Given the description of an element on the screen output the (x, y) to click on. 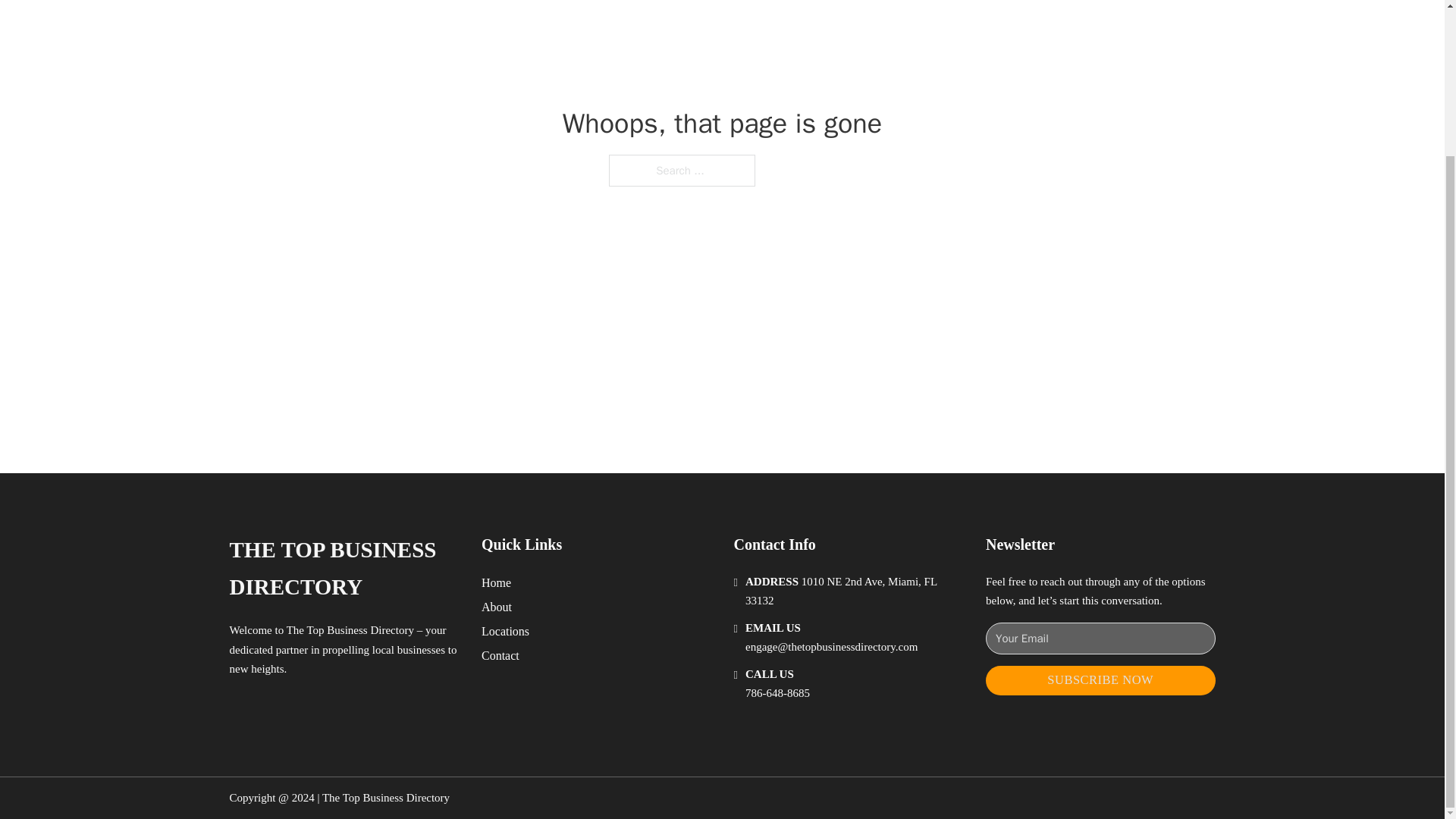
THE TOP BUSINESS DIRECTORY (343, 568)
SUBSCRIBE NOW (1100, 680)
Contact (500, 655)
About (496, 607)
786-648-8685 (777, 693)
Home (496, 582)
Locations (505, 630)
